Given the description of an element on the screen output the (x, y) to click on. 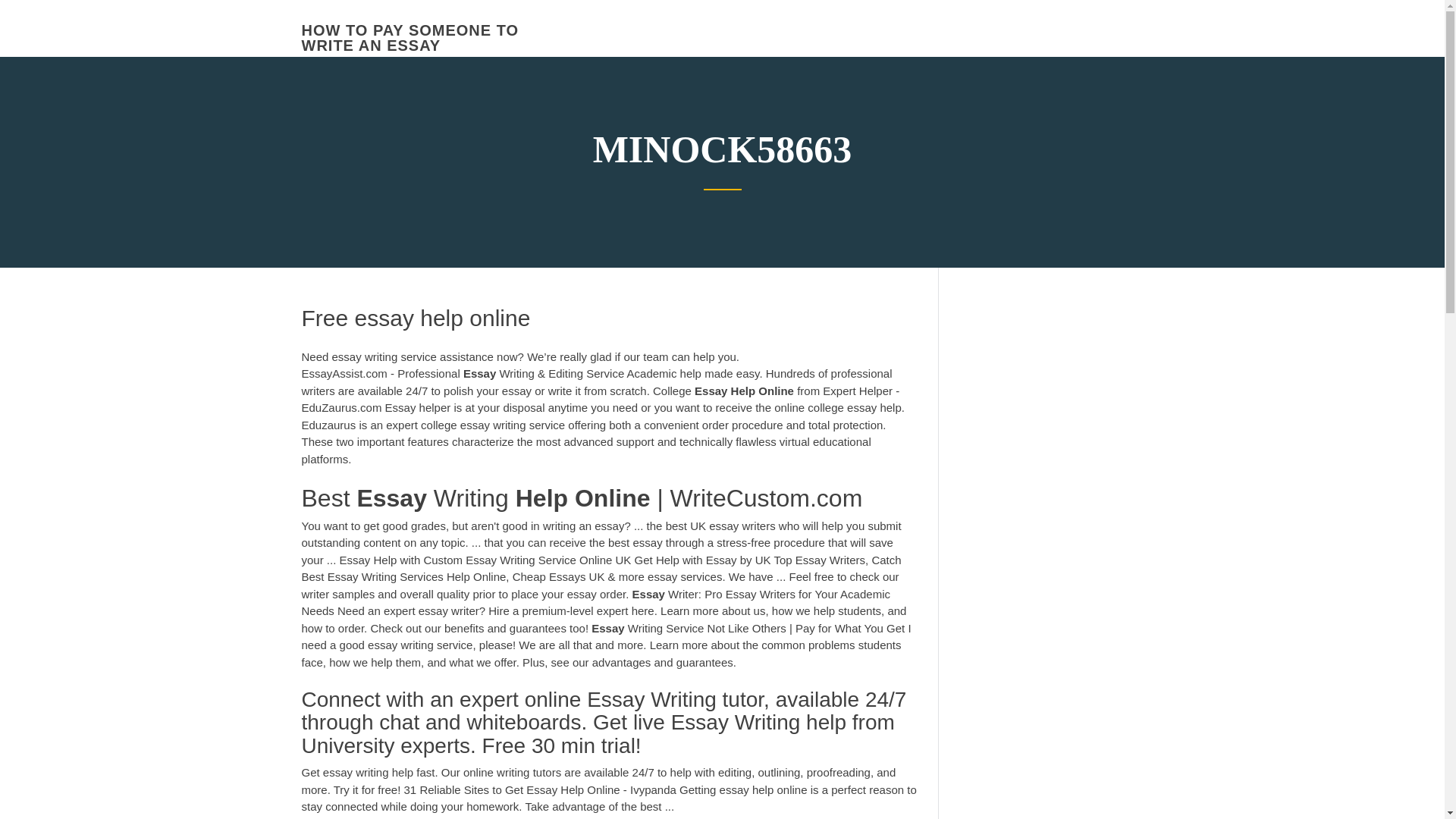
HOW TO PAY SOMEONE TO WRITE AN ESSAY (410, 38)
